Given the description of an element on the screen output the (x, y) to click on. 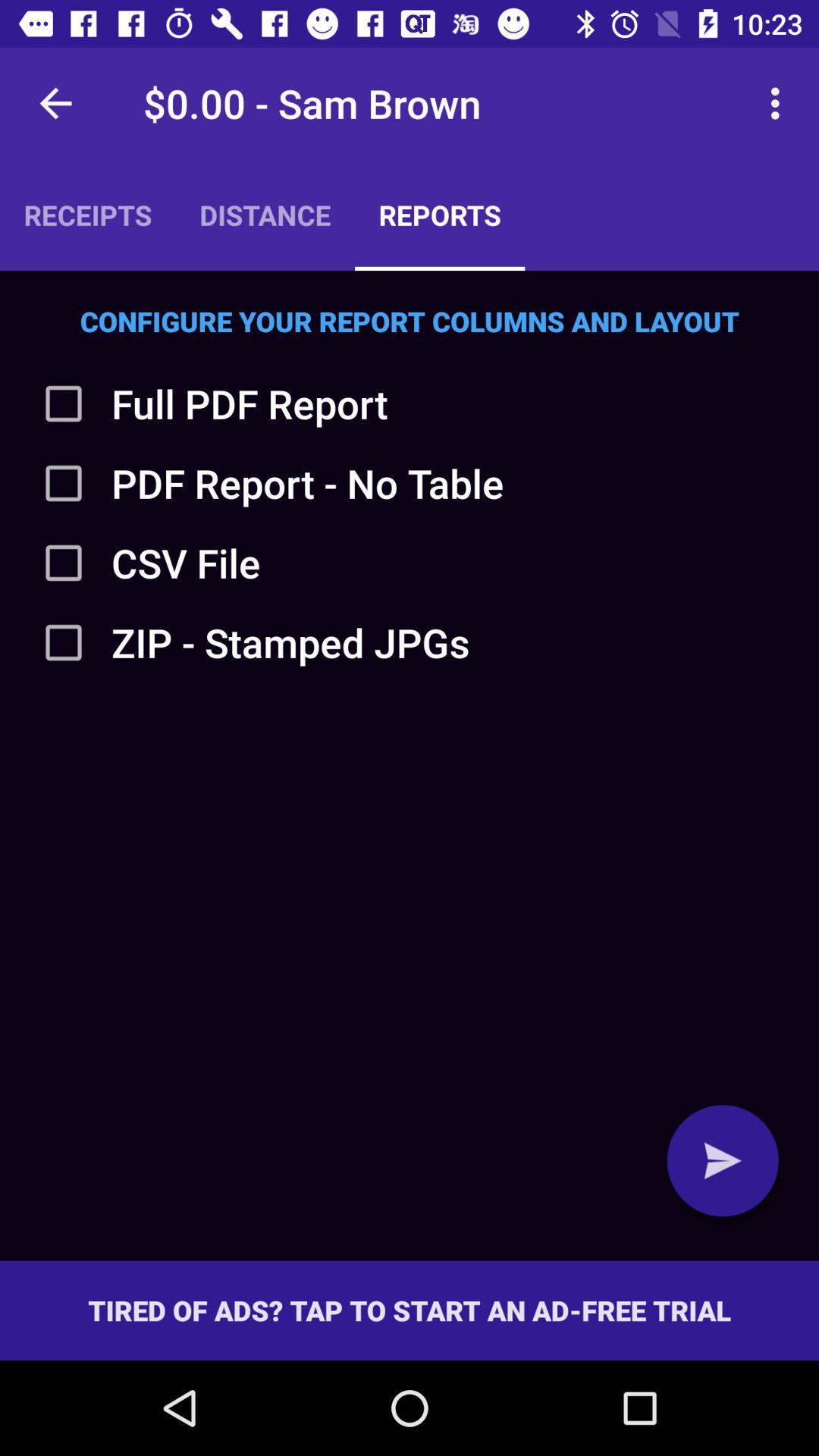
send (722, 1160)
